Given the description of an element on the screen output the (x, y) to click on. 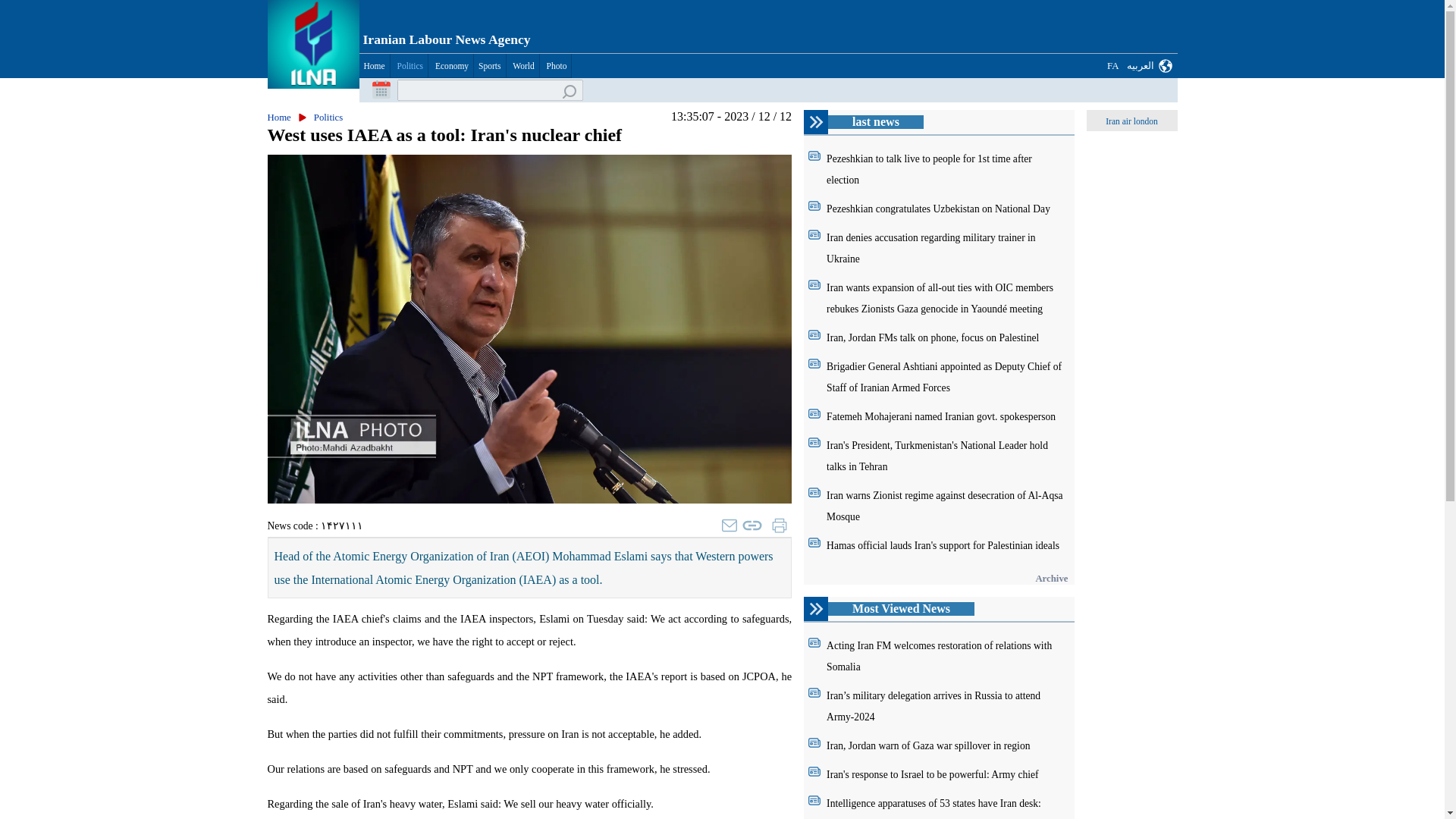
Iran denies accusation regarding military trainer in Ukraine (931, 247)
Fatemeh Mohajerani named Iranian govt. spokesperson (941, 416)
Iran, Jordan FMs talk on phone, focus on Palestinel (933, 337)
FA (1112, 66)
 World (522, 65)
Most Viewed News (901, 608)
Pezeshkian congratulates Uzbekistan on National Day (938, 208)
